Given the description of an element on the screen output the (x, y) to click on. 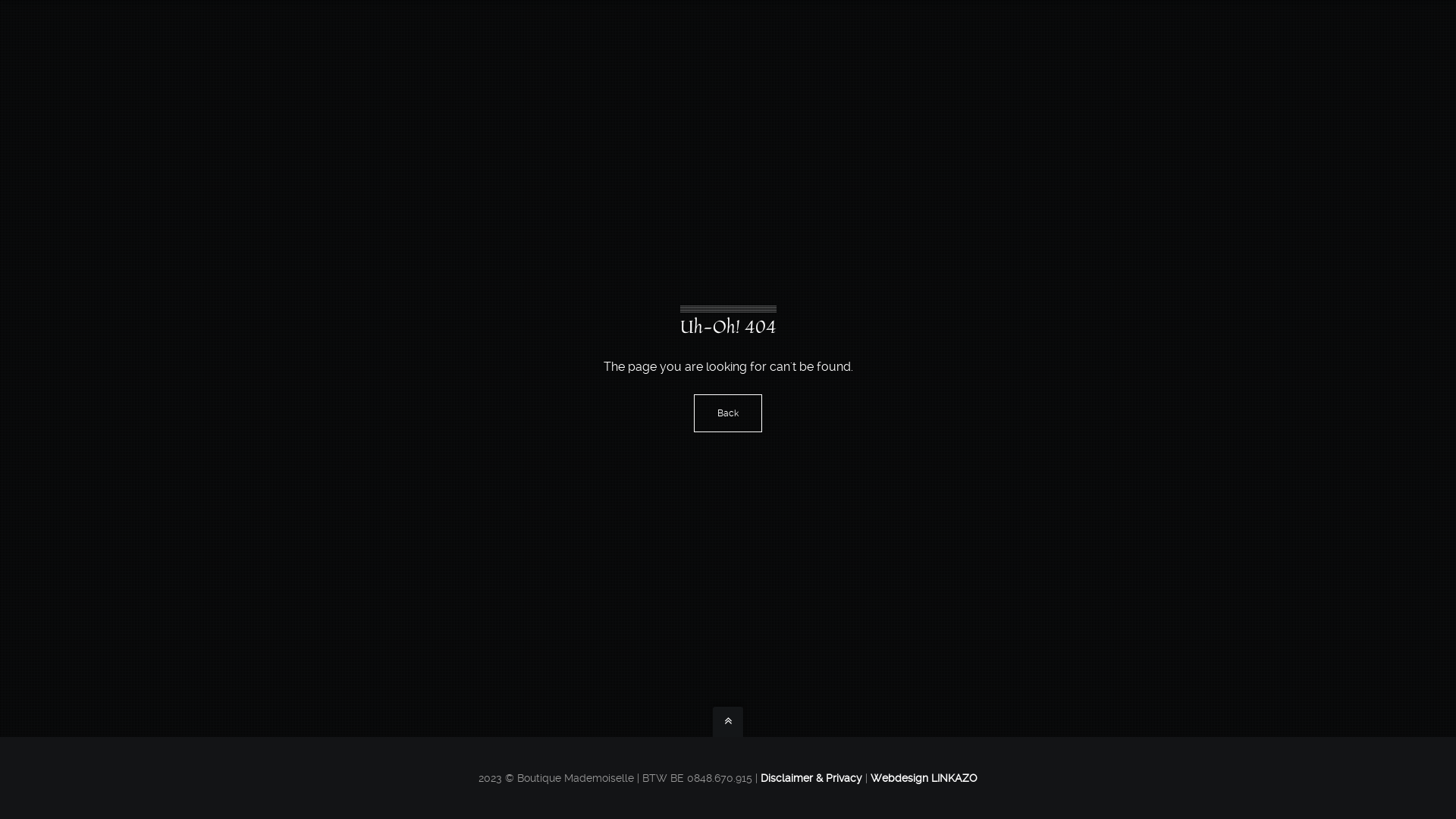
Back Element type: text (727, 413)
Webdesign LINKAZO Element type: text (923, 777)
Disclaimer & Privacy Element type: text (811, 777)
